Given the description of an element on the screen output the (x, y) to click on. 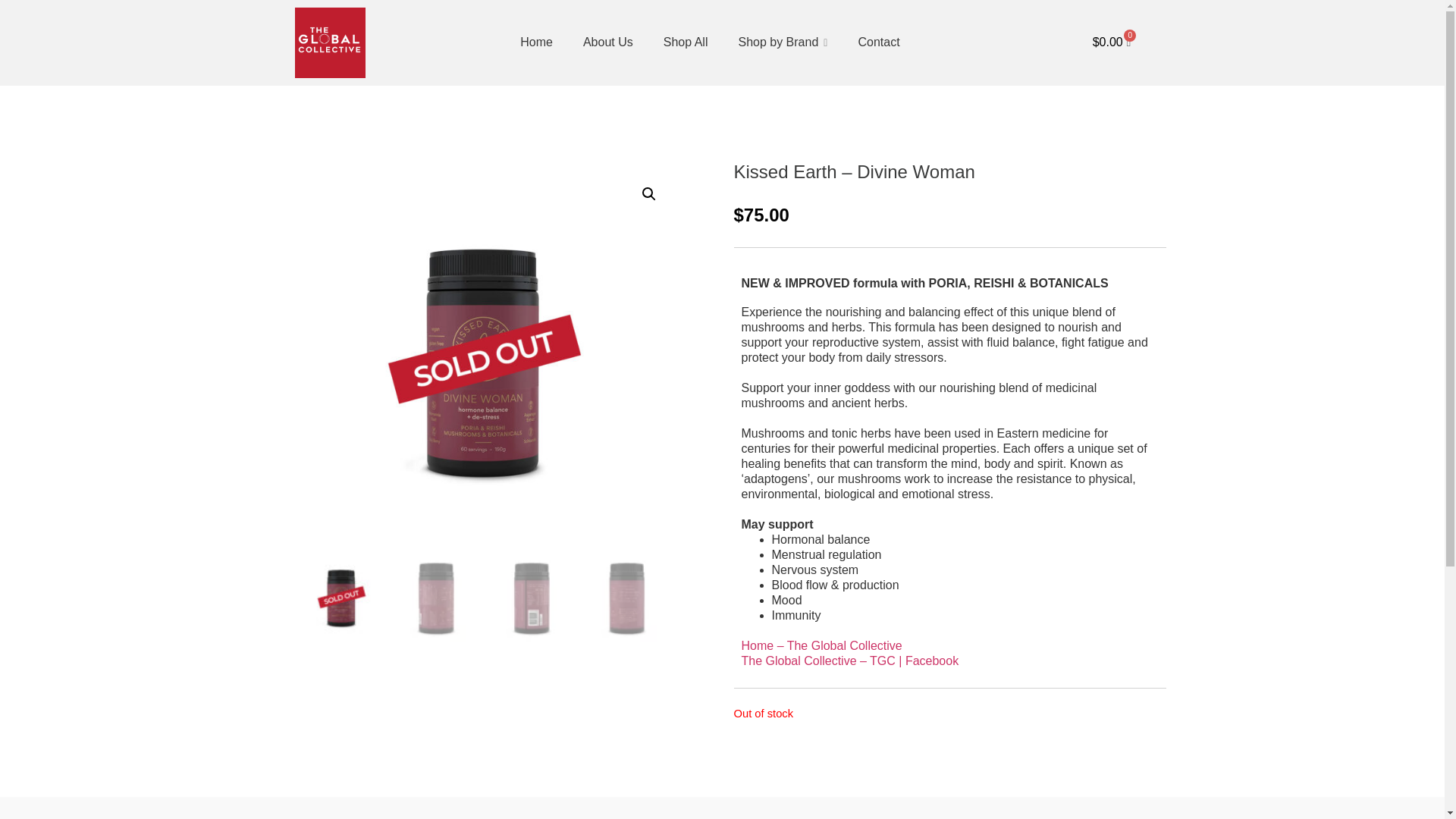
Shop by Brand (782, 42)
Home (536, 42)
Shop All (686, 42)
About Us (607, 42)
Contact (878, 42)
